Given the description of an element on the screen output the (x, y) to click on. 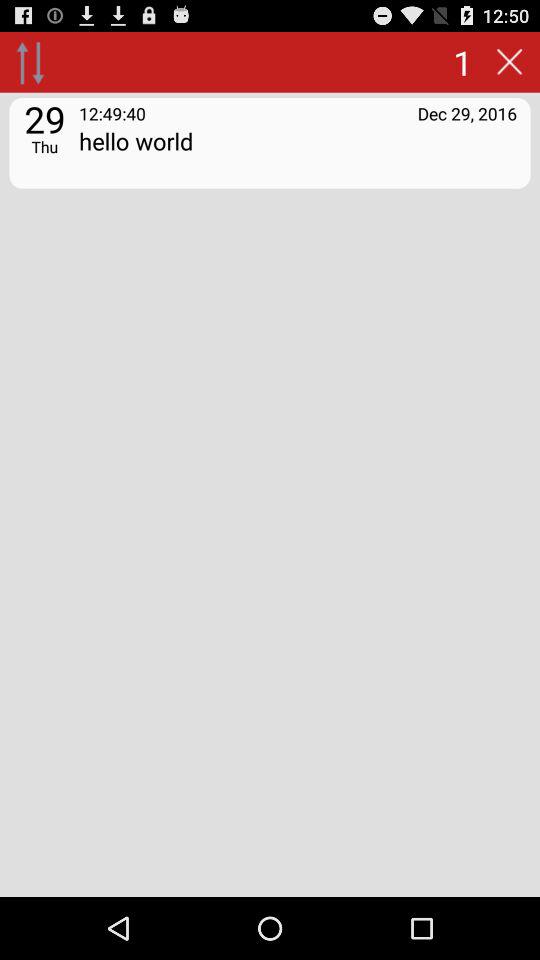
open the app next to the 12:49:40 icon (467, 112)
